Given the description of an element on the screen output the (x, y) to click on. 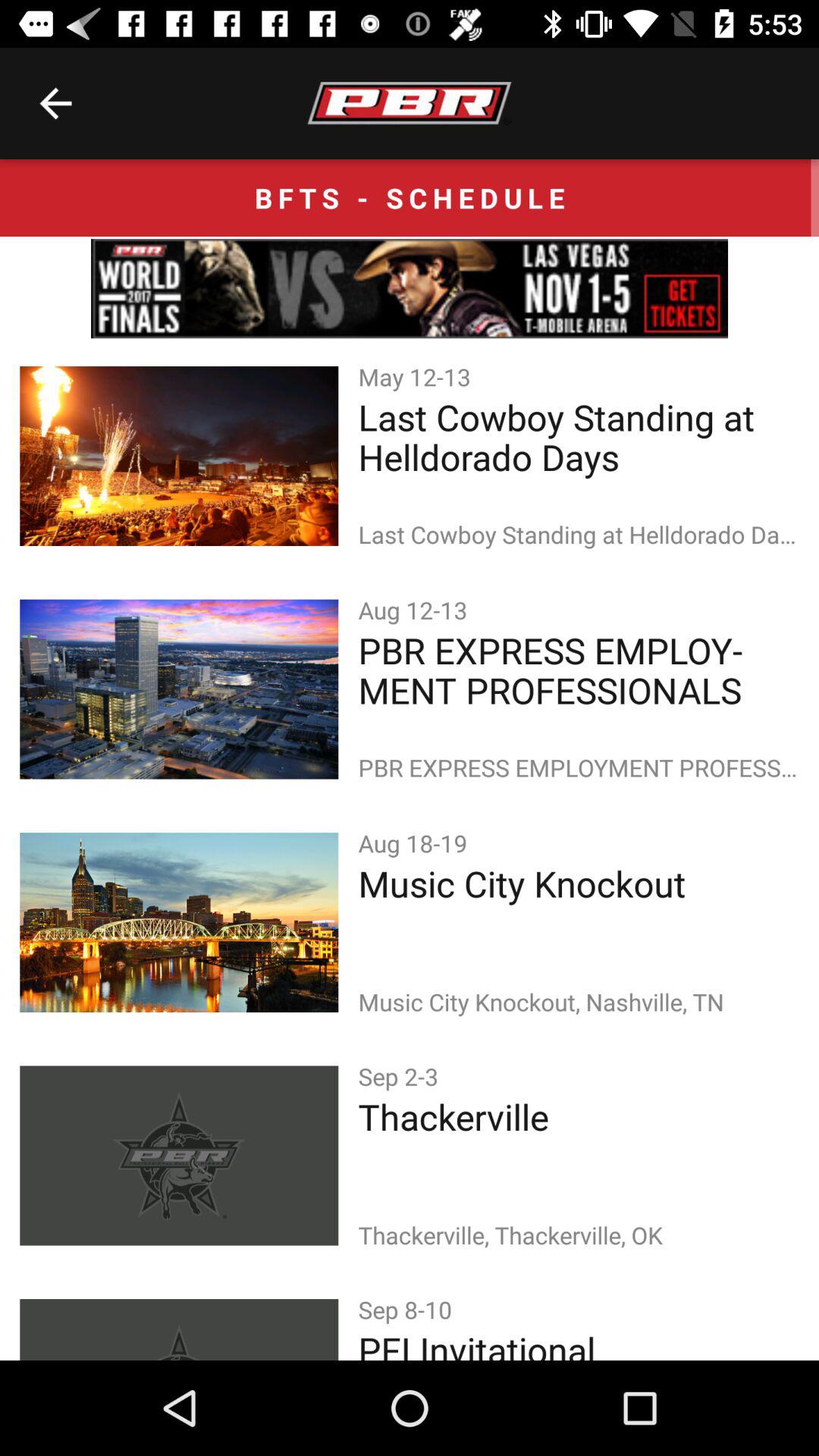
swipe to sep 8-10 icon (408, 1309)
